Given the description of an element on the screen output the (x, y) to click on. 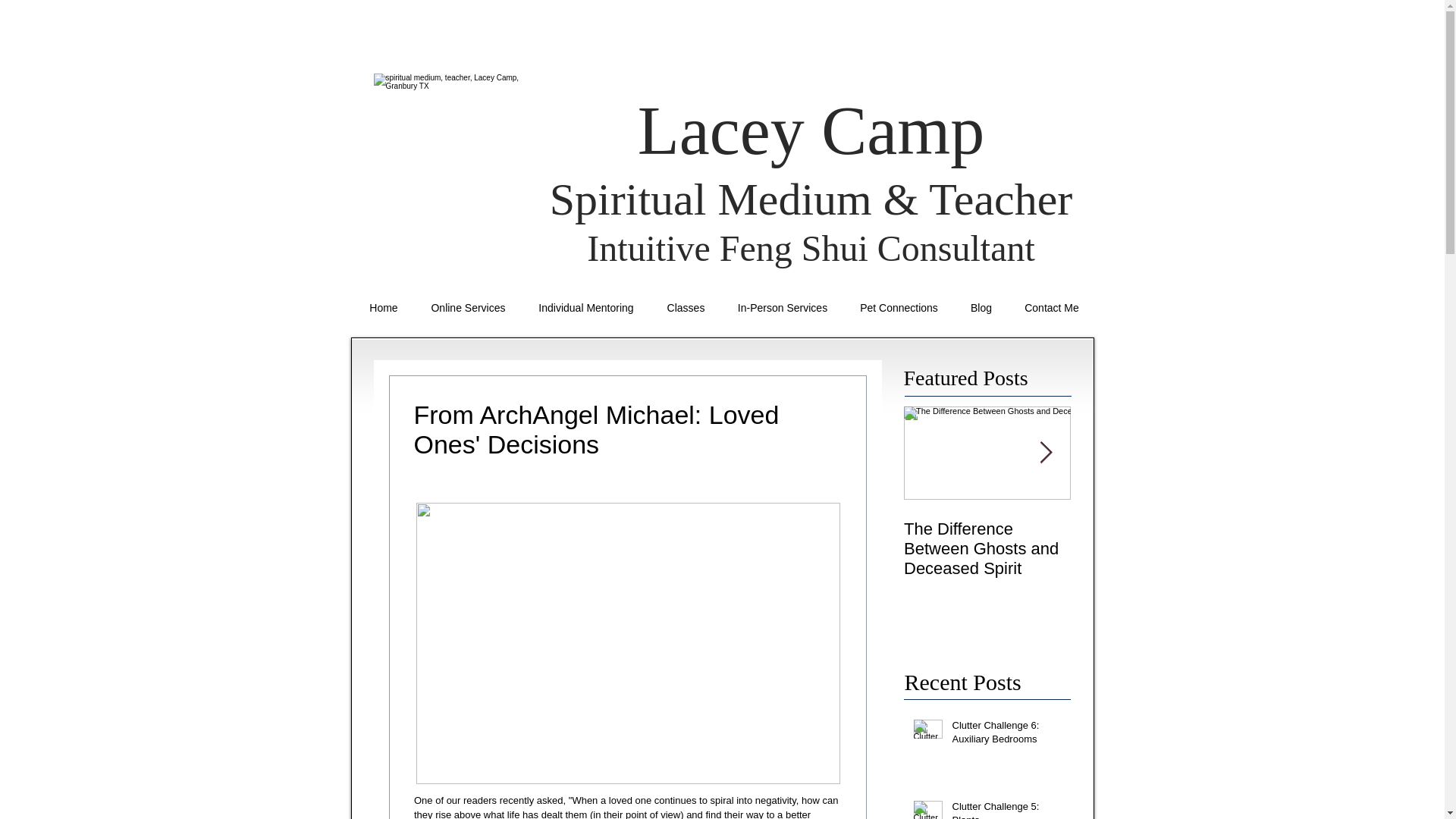
From Mother Earth: I Am Here for You (1153, 538)
Classes (686, 307)
In-Person Services (783, 307)
Online Services (467, 307)
Home (383, 307)
The Difference Between Ghosts and Deceased Spirit (987, 548)
Clutter Challenge 5: Plants (1006, 809)
Clutter Challenge 6: Auxiliary Bedrooms (1006, 735)
Individual Mentoring (585, 307)
Contact Me (1052, 307)
Blog (980, 307)
Pet Connections (898, 307)
